Given the description of an element on the screen output the (x, y) to click on. 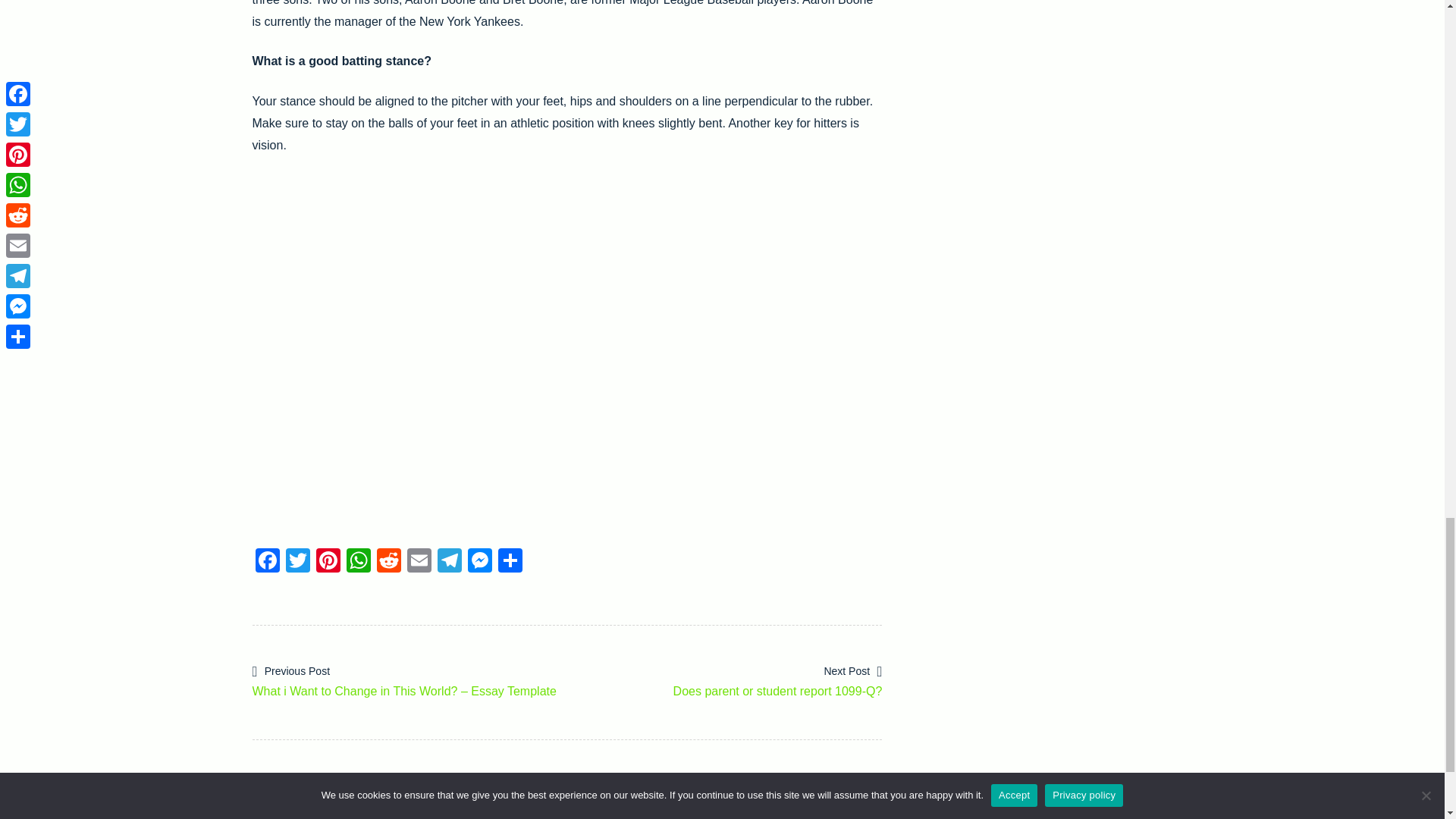
Messenger (479, 561)
WhatsApp (357, 561)
Email (418, 561)
Twitter (297, 561)
Messenger (479, 561)
Telegram (448, 561)
Reddit (387, 561)
Twitter (297, 561)
Share (509, 561)
Facebook (724, 679)
Email (266, 561)
MLB The Show 21 PS5 - Aaron Boone Batting Stance!!! (418, 561)
WhatsApp (448, 561)
